Given the description of an element on the screen output the (x, y) to click on. 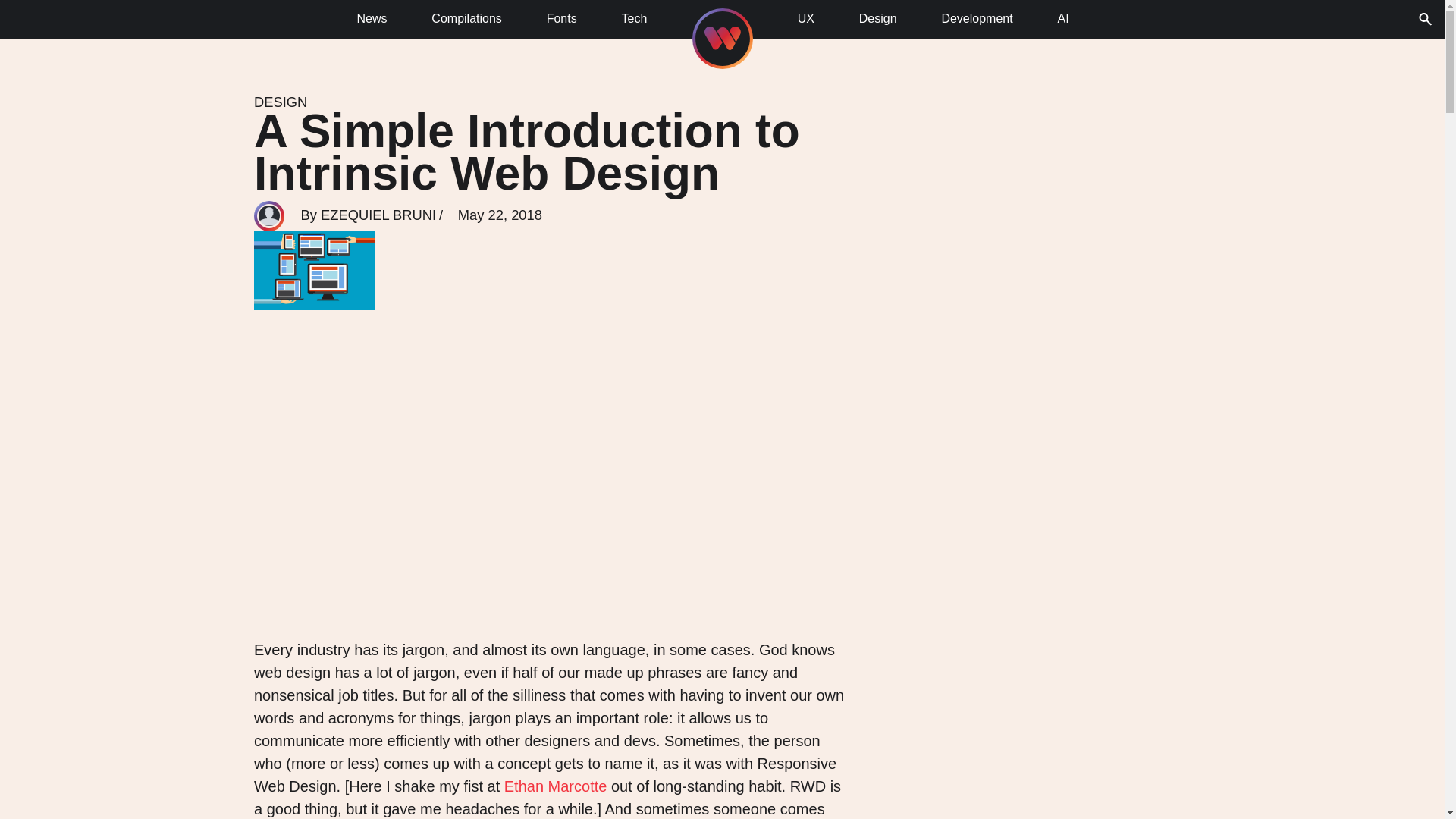
Ethan Marcotte (555, 786)
News (371, 22)
DESIGN (280, 102)
Compilations (466, 22)
UX (805, 22)
Development (976, 22)
Fonts (560, 22)
AI (1062, 22)
EZEQUIEL BRUNI (377, 214)
Design (877, 22)
Tech (632, 22)
